Given the description of an element on the screen output the (x, y) to click on. 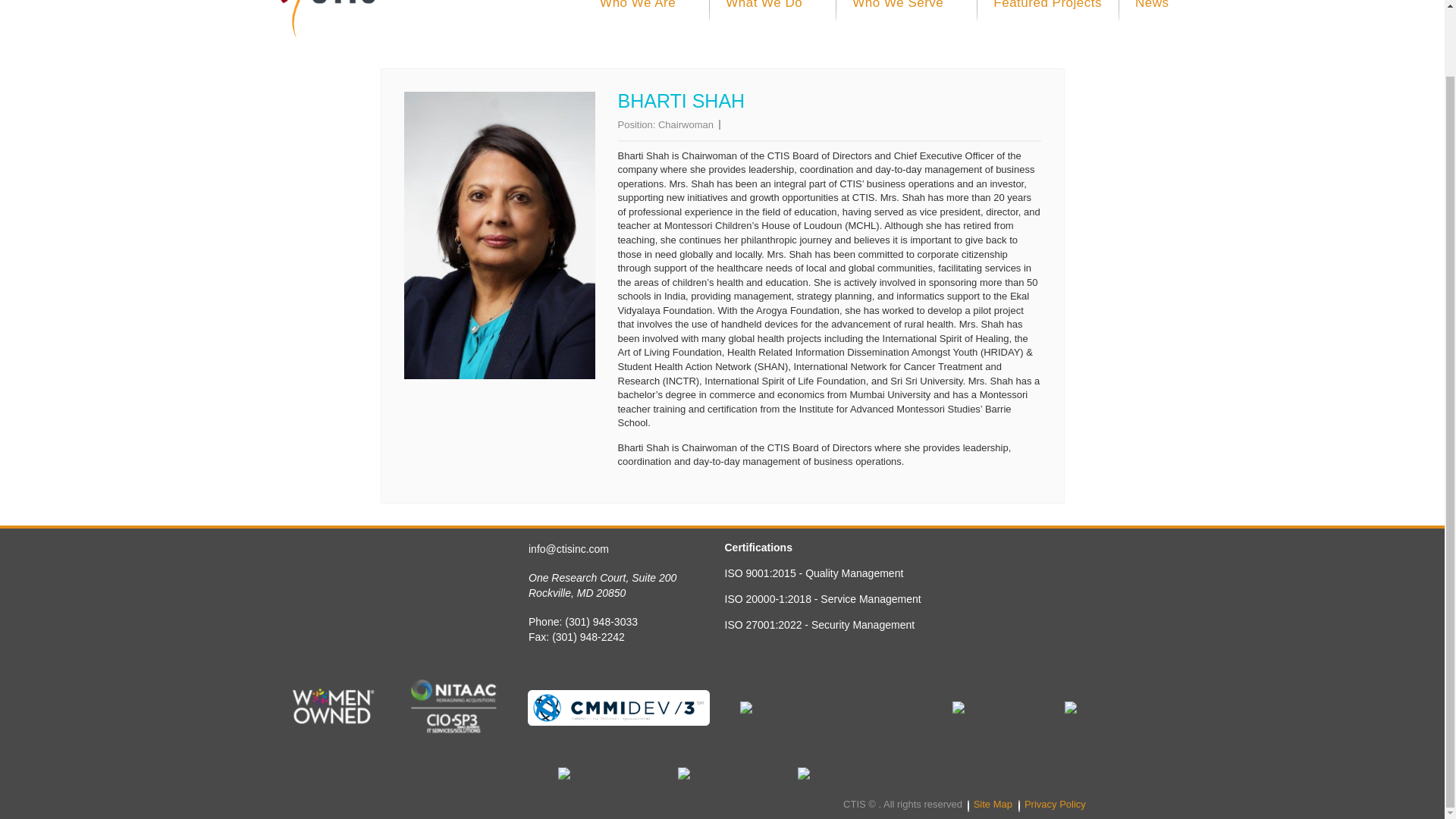
What We Do (772, 22)
News (1146, 22)
Who We Serve (905, 22)
Who We Are (646, 22)
Featured Projects (1047, 22)
